Given the description of an element on the screen output the (x, y) to click on. 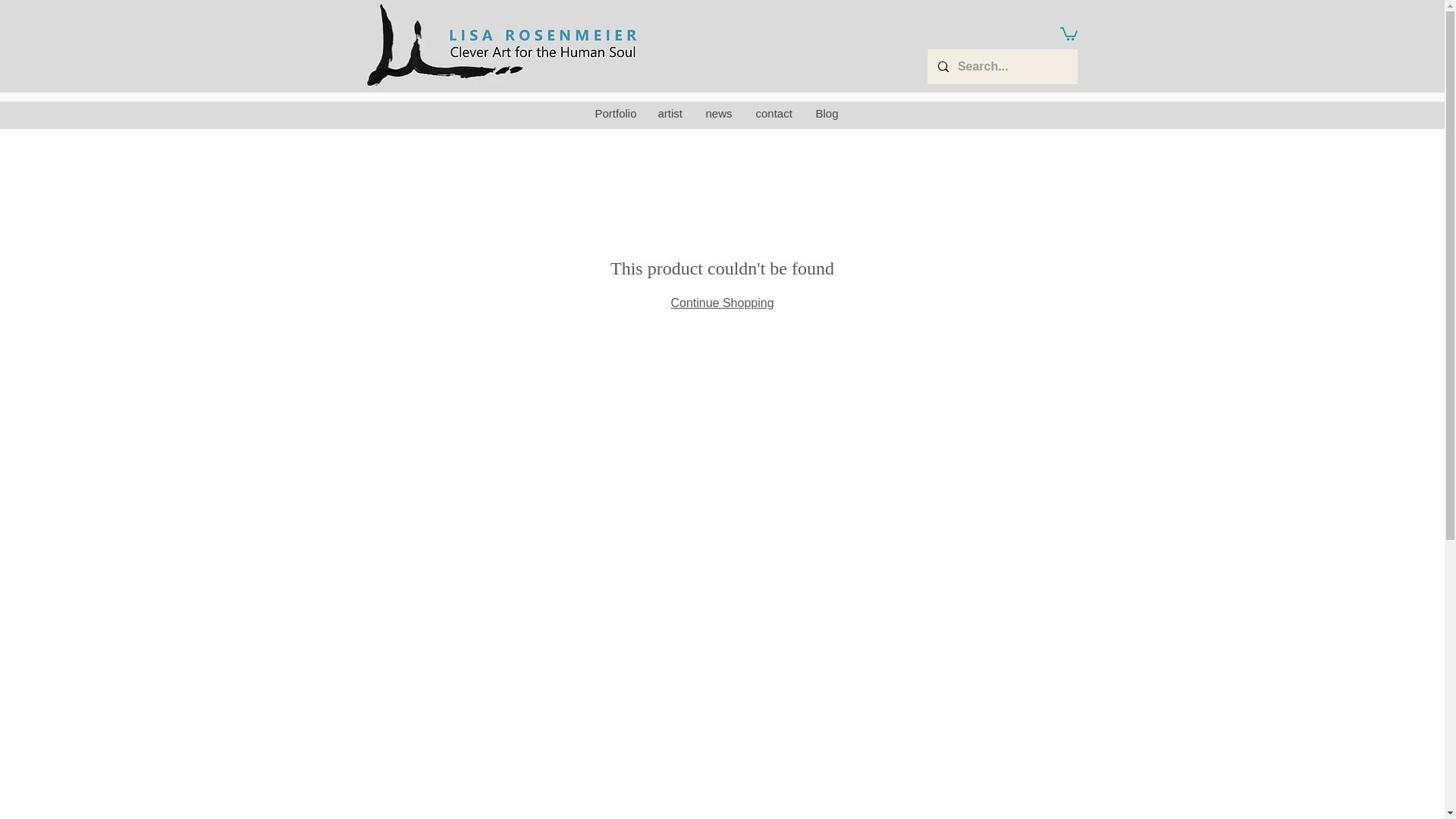
Continue Shopping (721, 302)
contact (772, 113)
artist (670, 113)
Blog (826, 113)
Portfolio (614, 113)
news (717, 113)
